Given the description of an element on the screen output the (x, y) to click on. 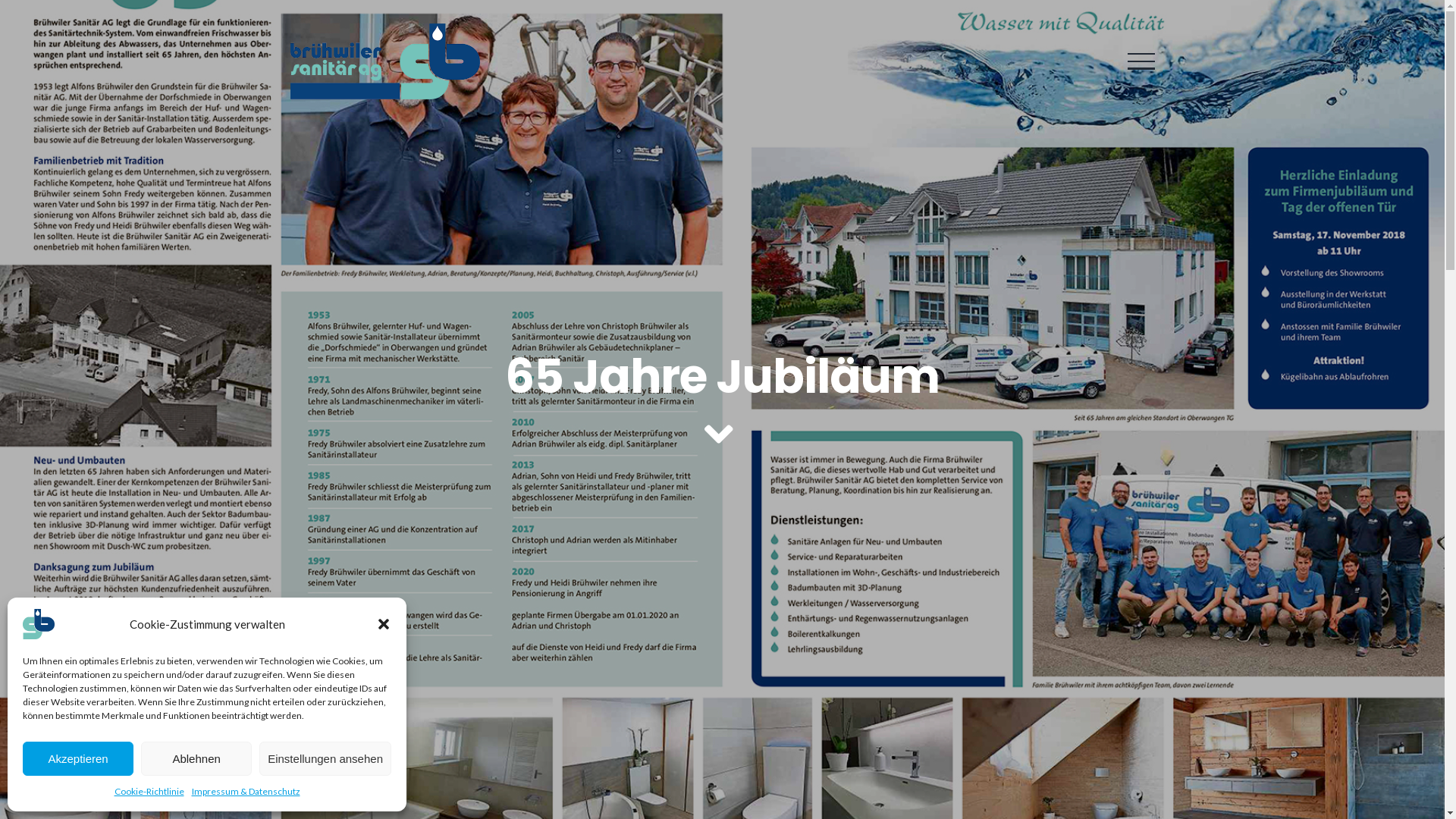
Einstellungen ansehen Element type: text (325, 758)
Cookie-Richtlinie Element type: text (148, 791)
Akzeptieren Element type: text (77, 758)
Ablehnen Element type: text (196, 758)
Impressum & Datenschutz Element type: text (245, 791)
